Given the description of an element on the screen output the (x, y) to click on. 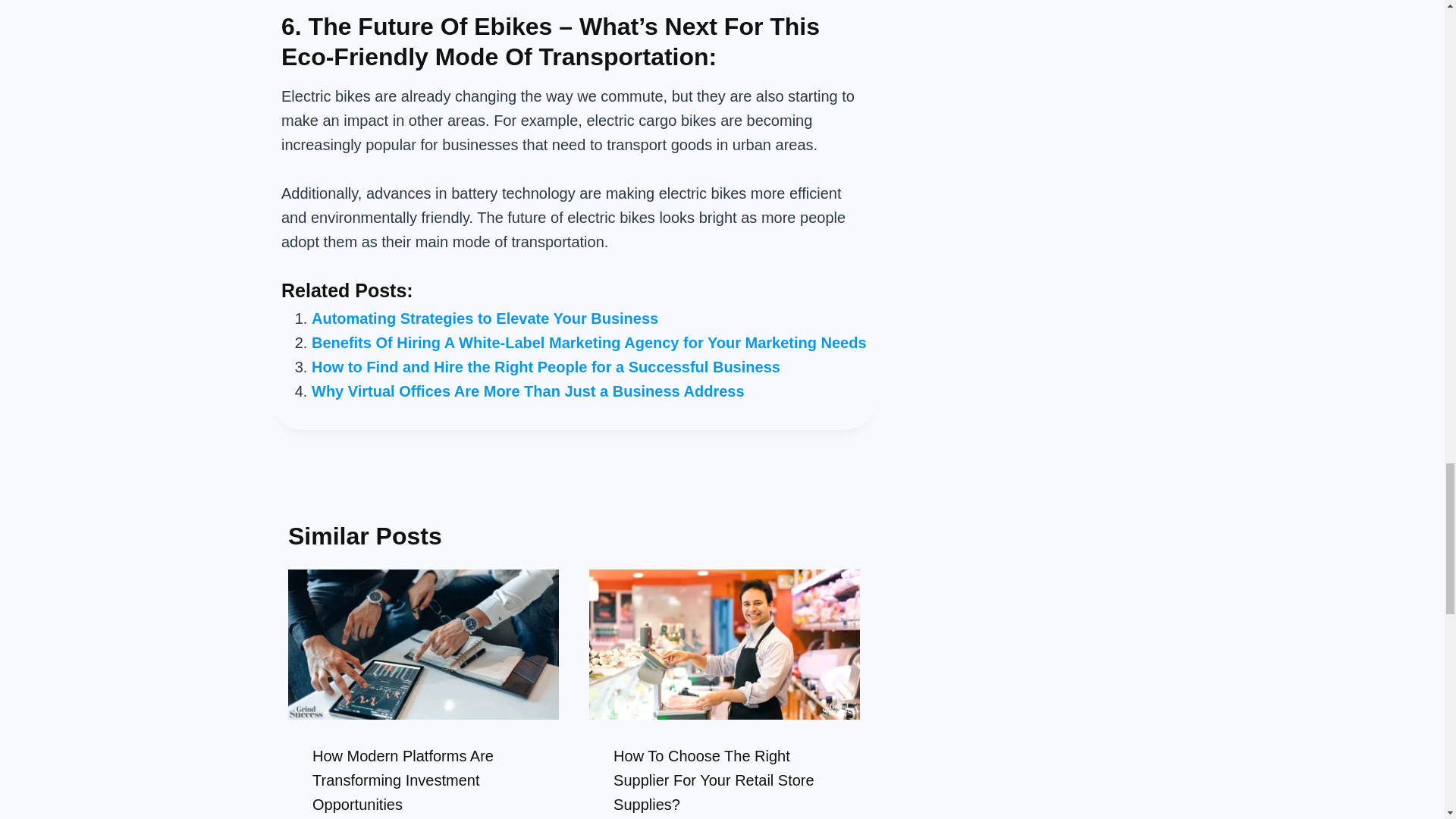
Why Virtual Offices Are More Than Just a Business Address (527, 391)
Automating Strategies to Elevate Your Business (484, 318)
Automating Strategies to Elevate Your Business (484, 318)
Why Virtual Offices Are More Than Just a Business Address (527, 391)
